Given the description of an element on the screen output the (x, y) to click on. 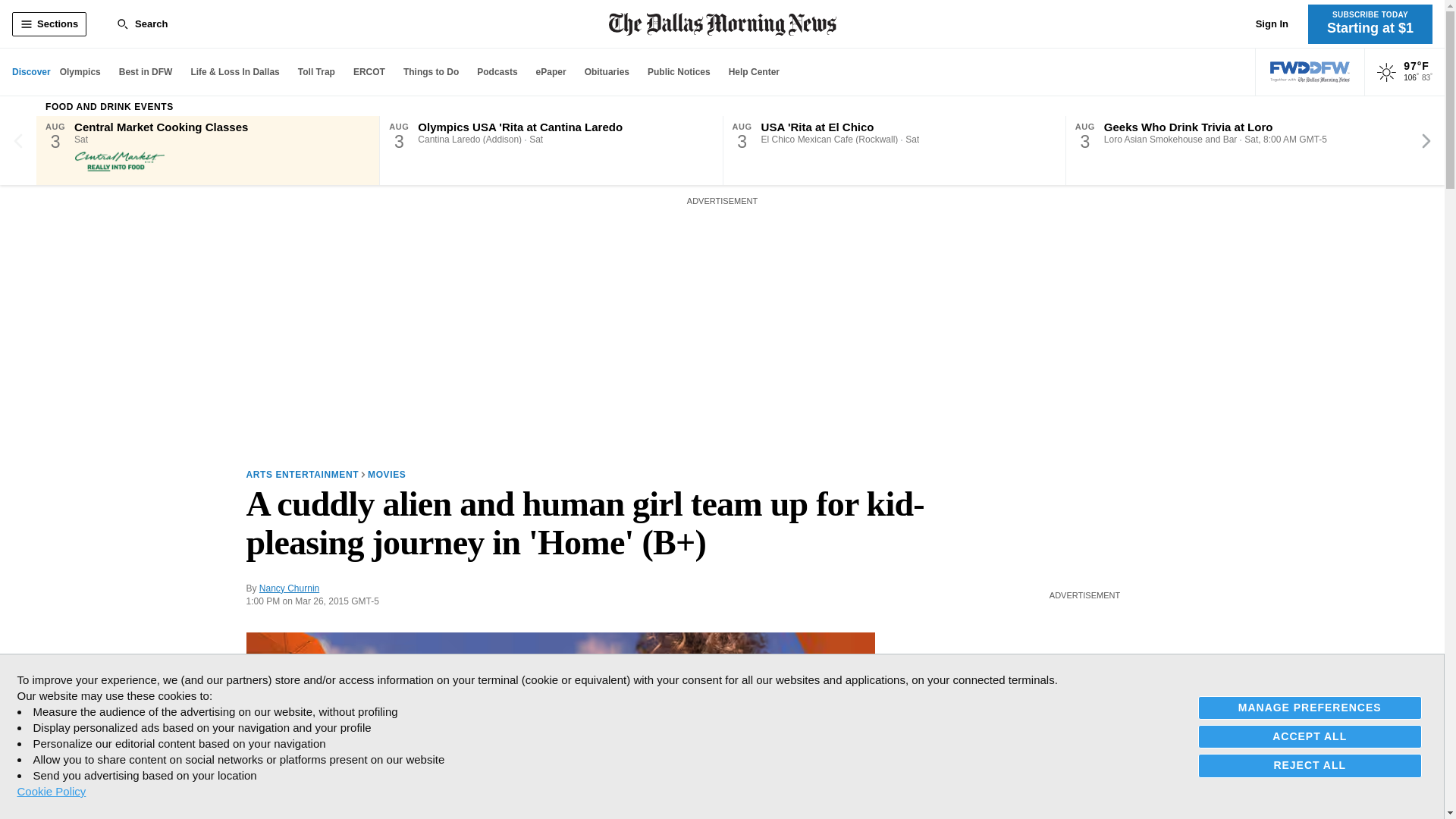
MANAGE PREFERENCES (1310, 707)
ACCEPT ALL (1310, 736)
REJECT ALL (1310, 765)
Clear sky (1386, 72)
FWD DFW, Together with The Dallas Morning News (1310, 72)
Cookie Policy (50, 790)
